Given the description of an element on the screen output the (x, y) to click on. 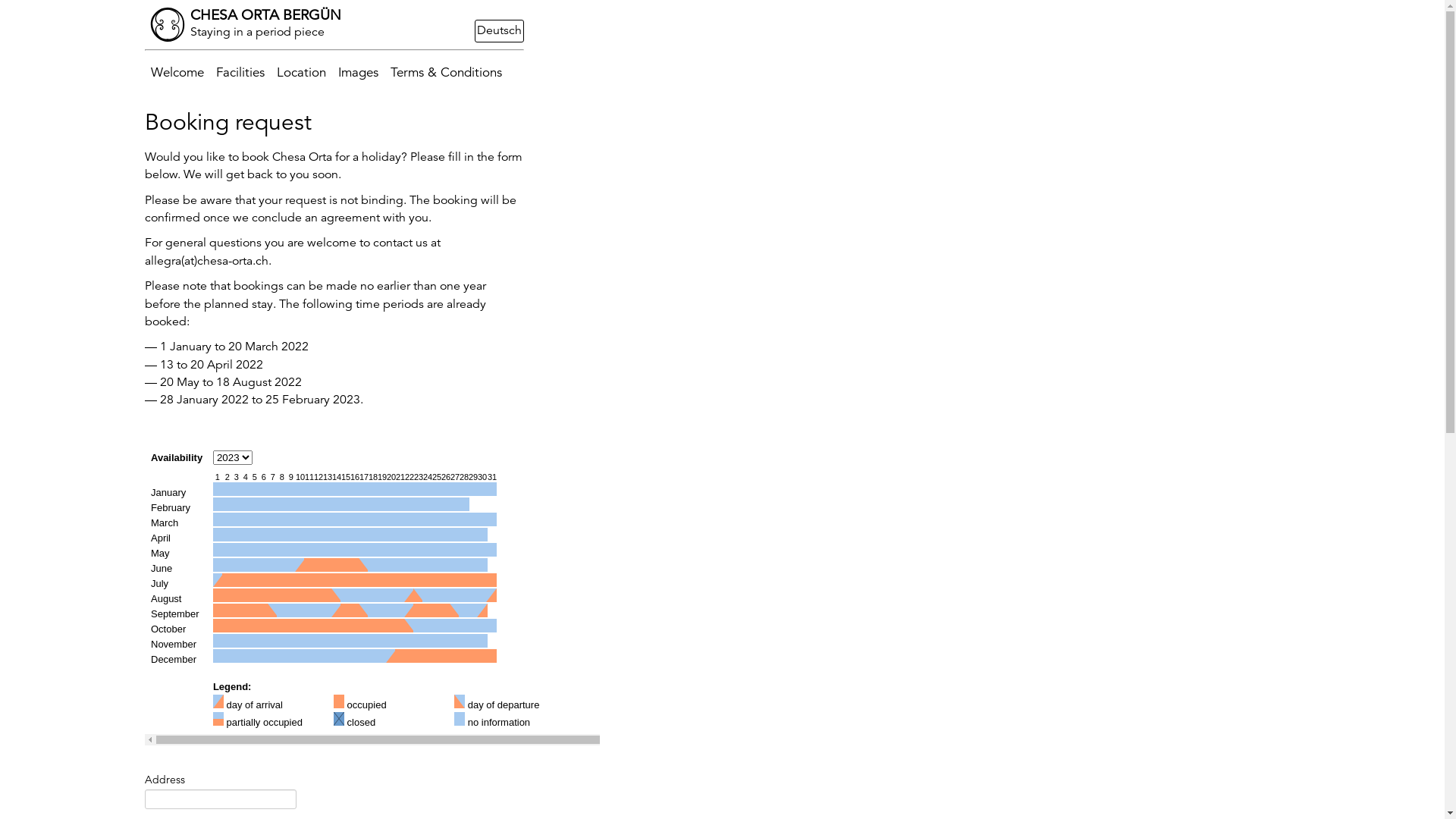
Welcome Element type: text (176, 72)
Facilities Element type: text (239, 72)
Location Element type: text (300, 72)
Terms & Conditions Element type: text (445, 72)
Images Element type: text (358, 72)
